Given the description of an element on the screen output the (x, y) to click on. 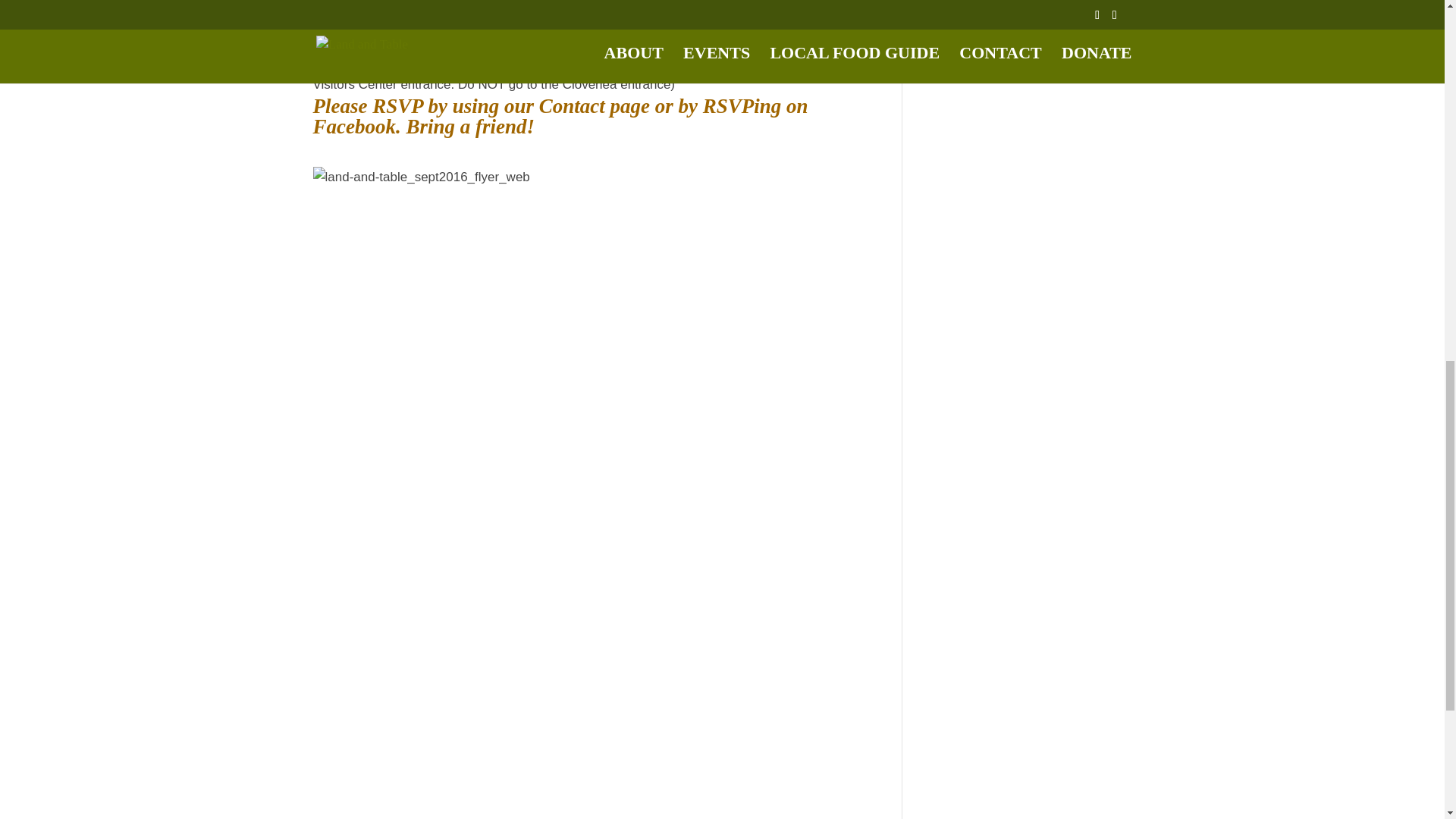
1844 Woods Rd, Bedford, VA 24523 (688, 62)
Contact page (593, 106)
RSVPing on Facebook (560, 116)
